Given the description of an element on the screen output the (x, y) to click on. 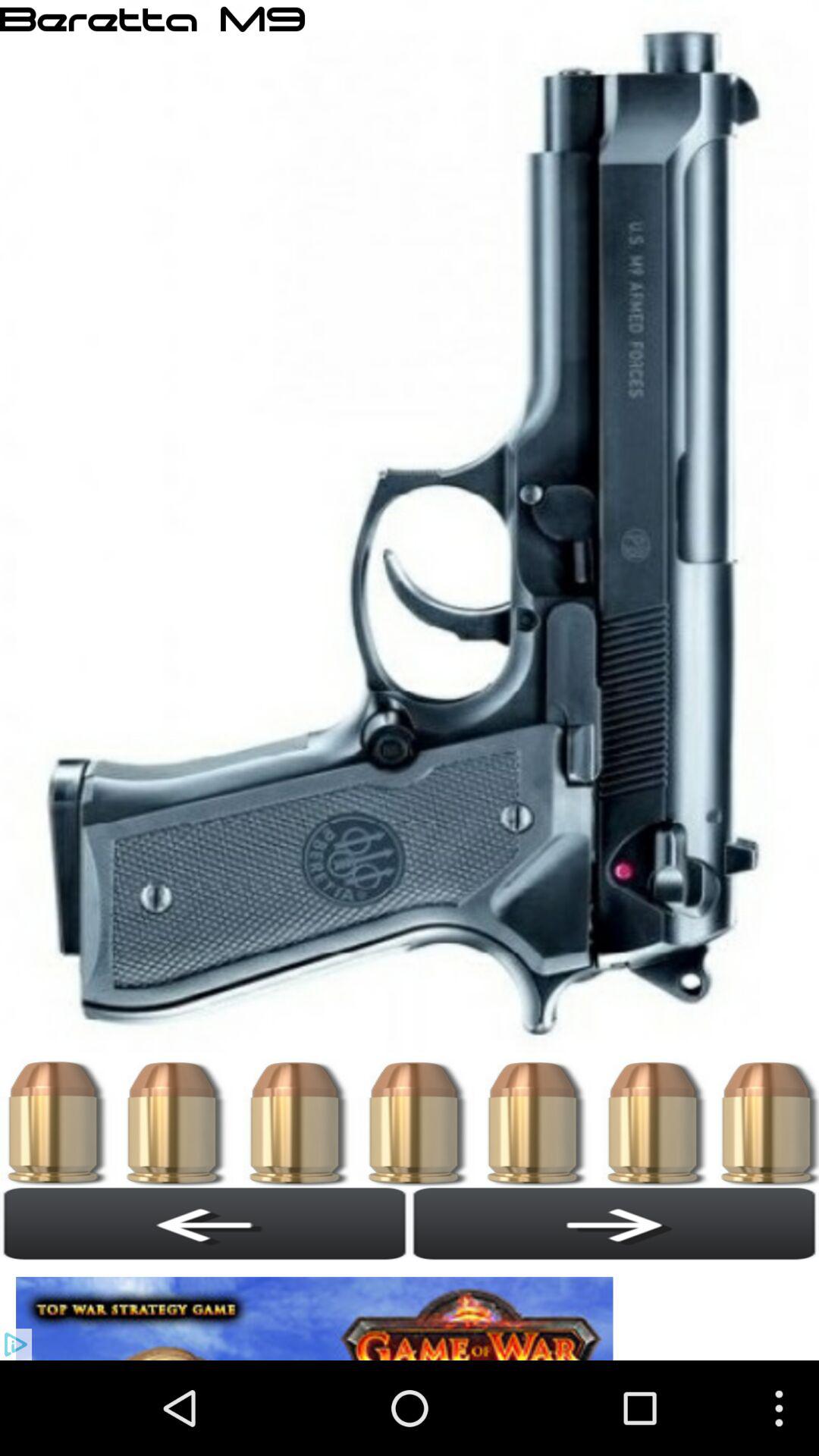
go to next (614, 1223)
